Given the description of an element on the screen output the (x, y) to click on. 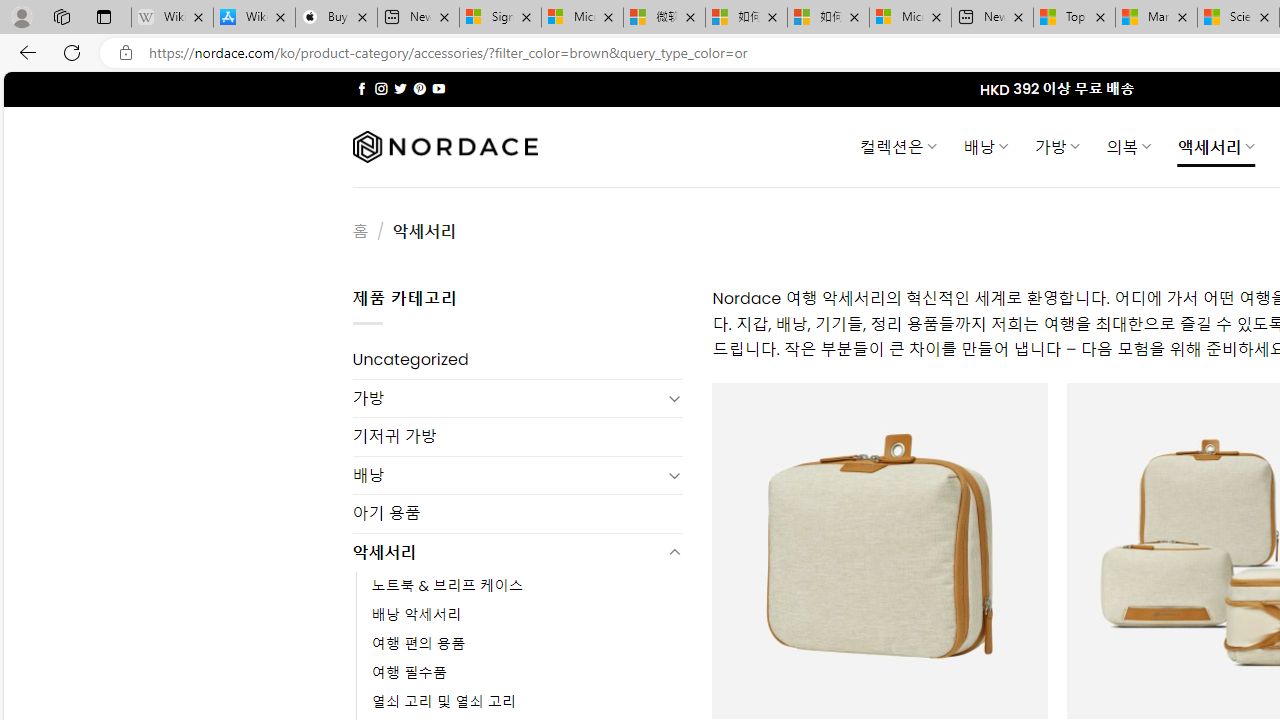
Follow on Facebook (361, 88)
Uncategorized (517, 359)
